Given the description of an element on the screen output the (x, y) to click on. 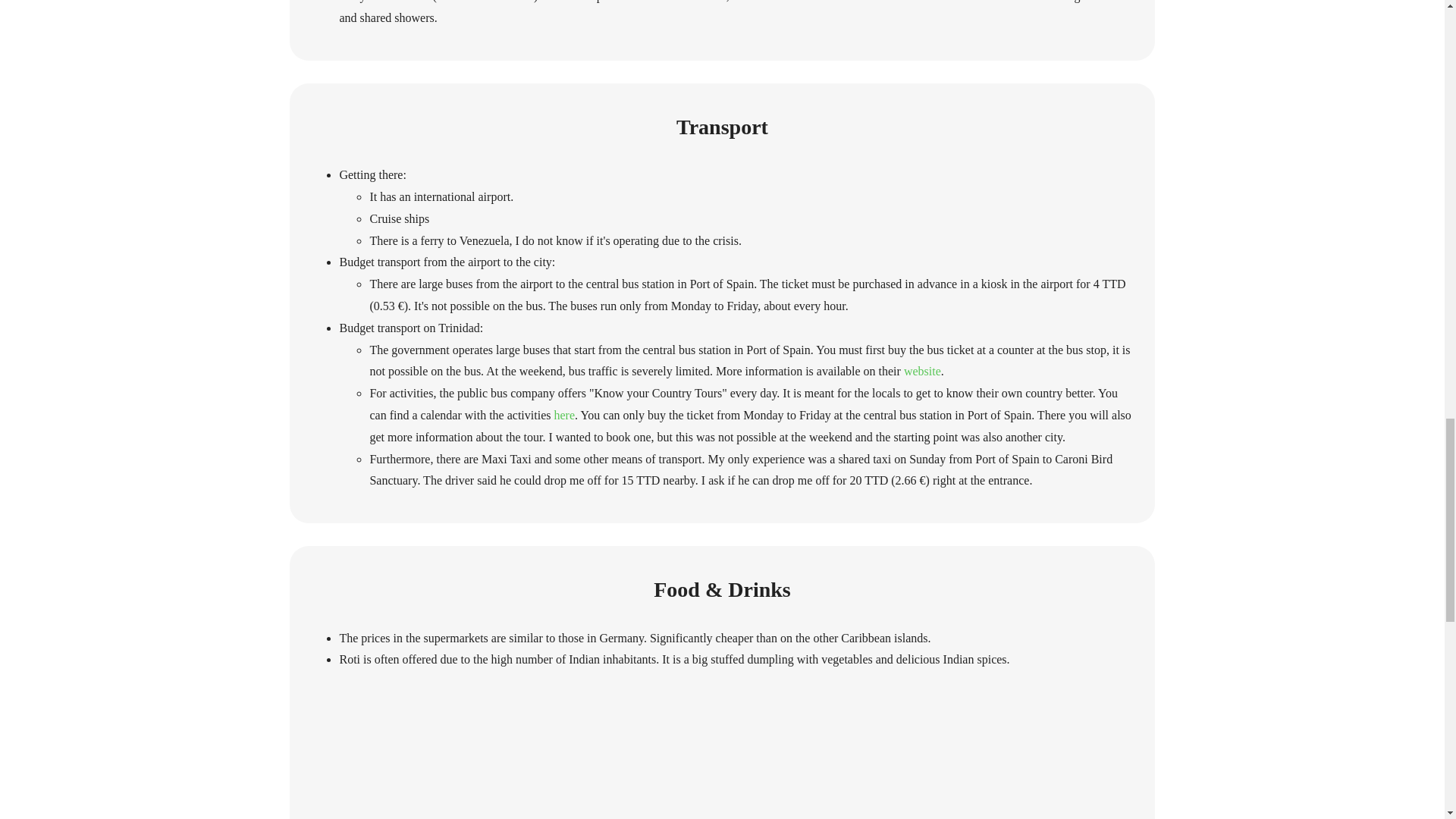
website (922, 370)
here (564, 414)
Pearl's Guest House (485, 1)
